Given the description of an element on the screen output the (x, y) to click on. 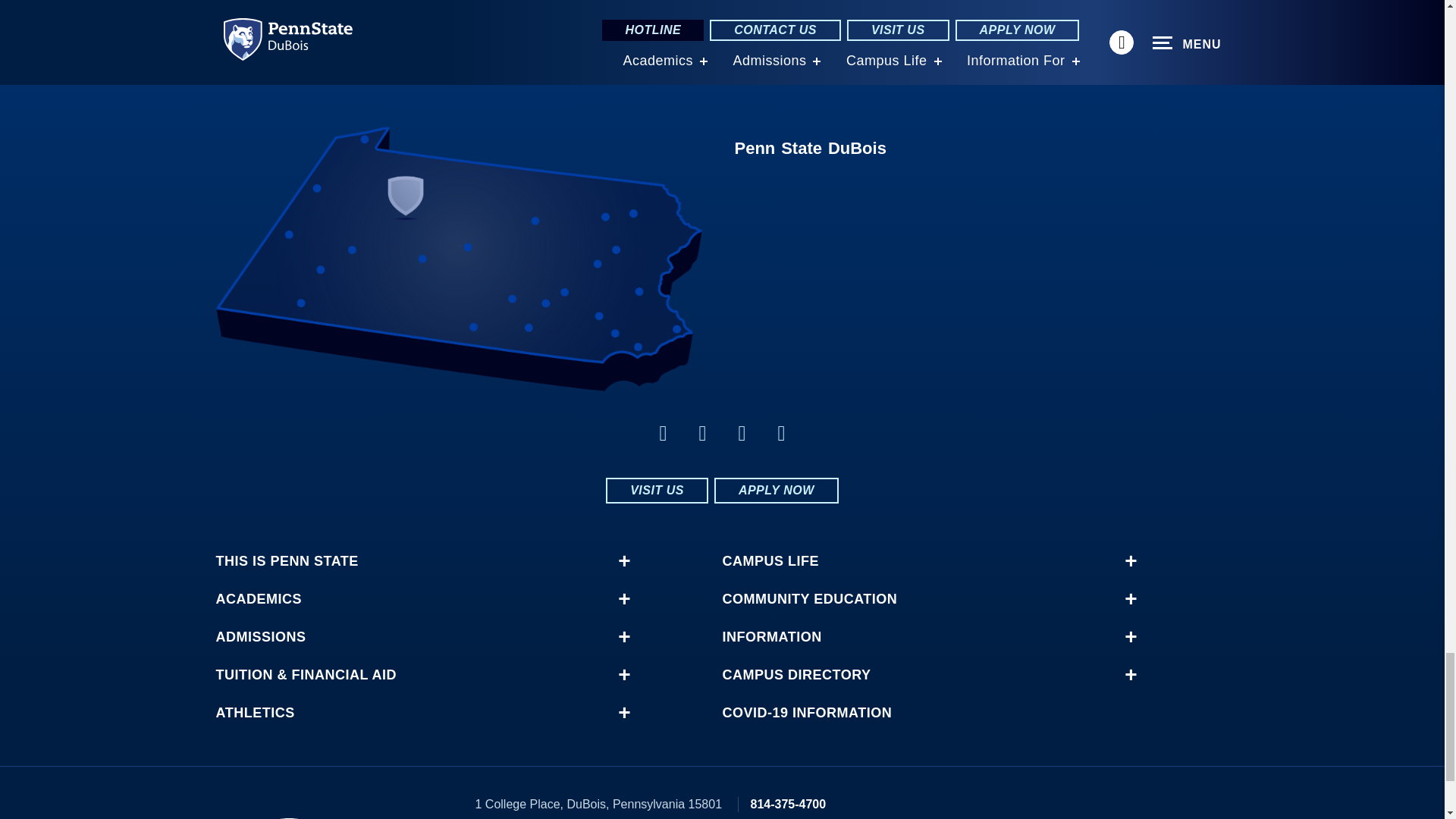
twitter (741, 433)
instagram (781, 433)
facebook (662, 433)
linkedin (702, 433)
COVID-19 Information (921, 712)
